Given the description of an element on the screen output the (x, y) to click on. 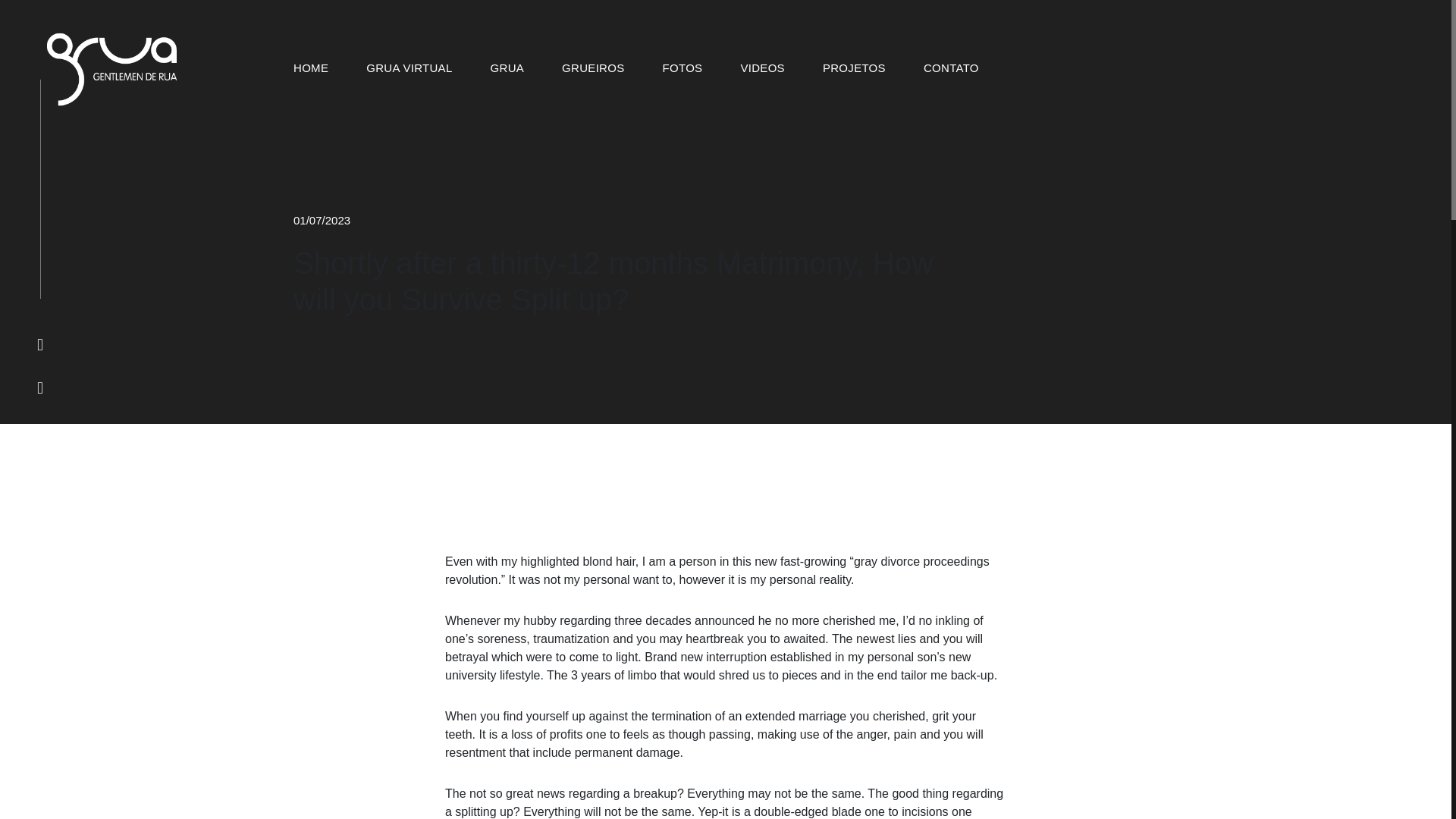
GRUA VIRTUAL (408, 68)
PROJETOS (853, 68)
GRUEIROS (593, 68)
CONTATO (950, 68)
